Given the description of an element on the screen output the (x, y) to click on. 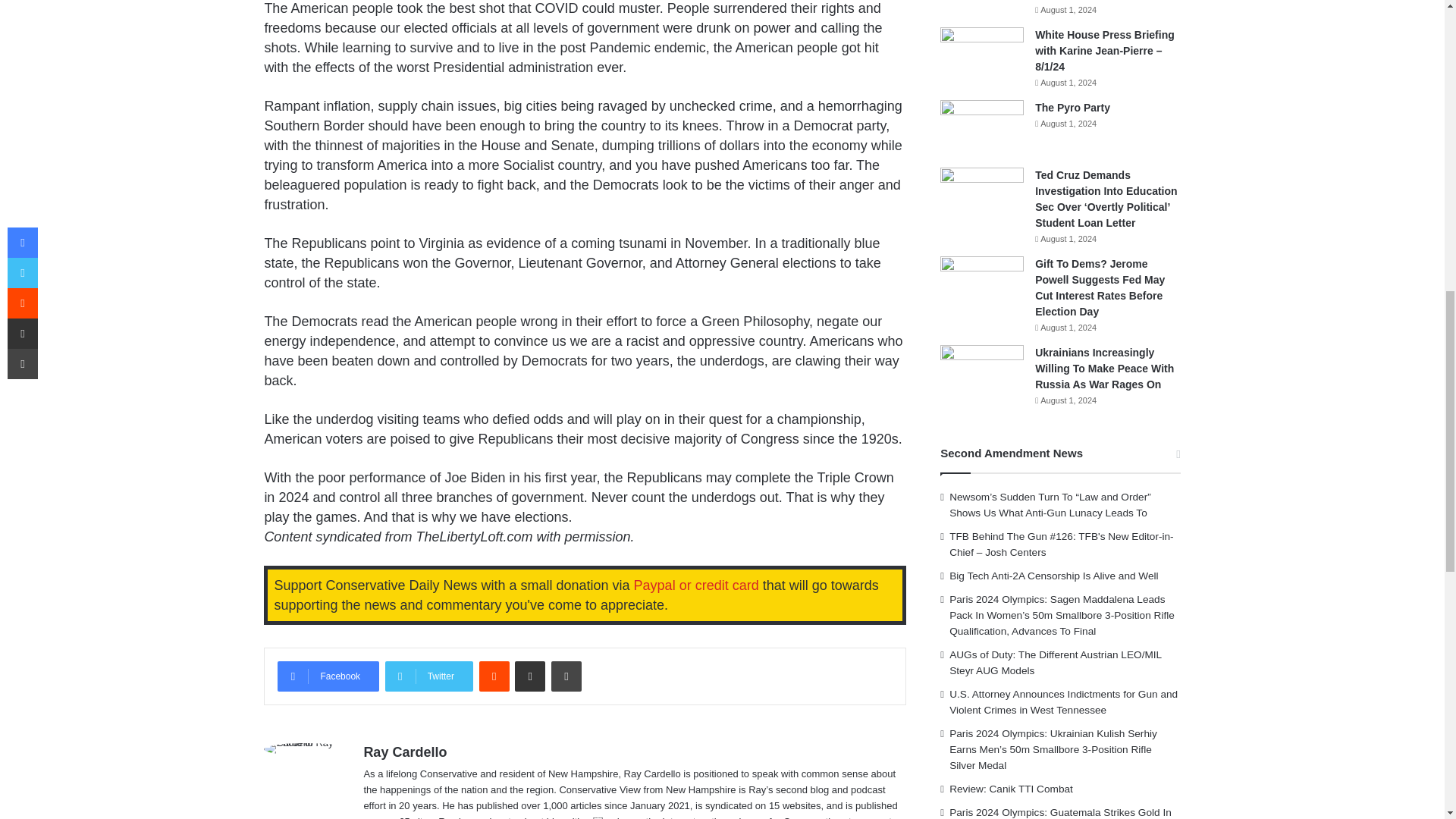
Reddit (494, 675)
Facebook (328, 675)
Twitter (429, 675)
Share via Email (529, 675)
